Given the description of an element on the screen output the (x, y) to click on. 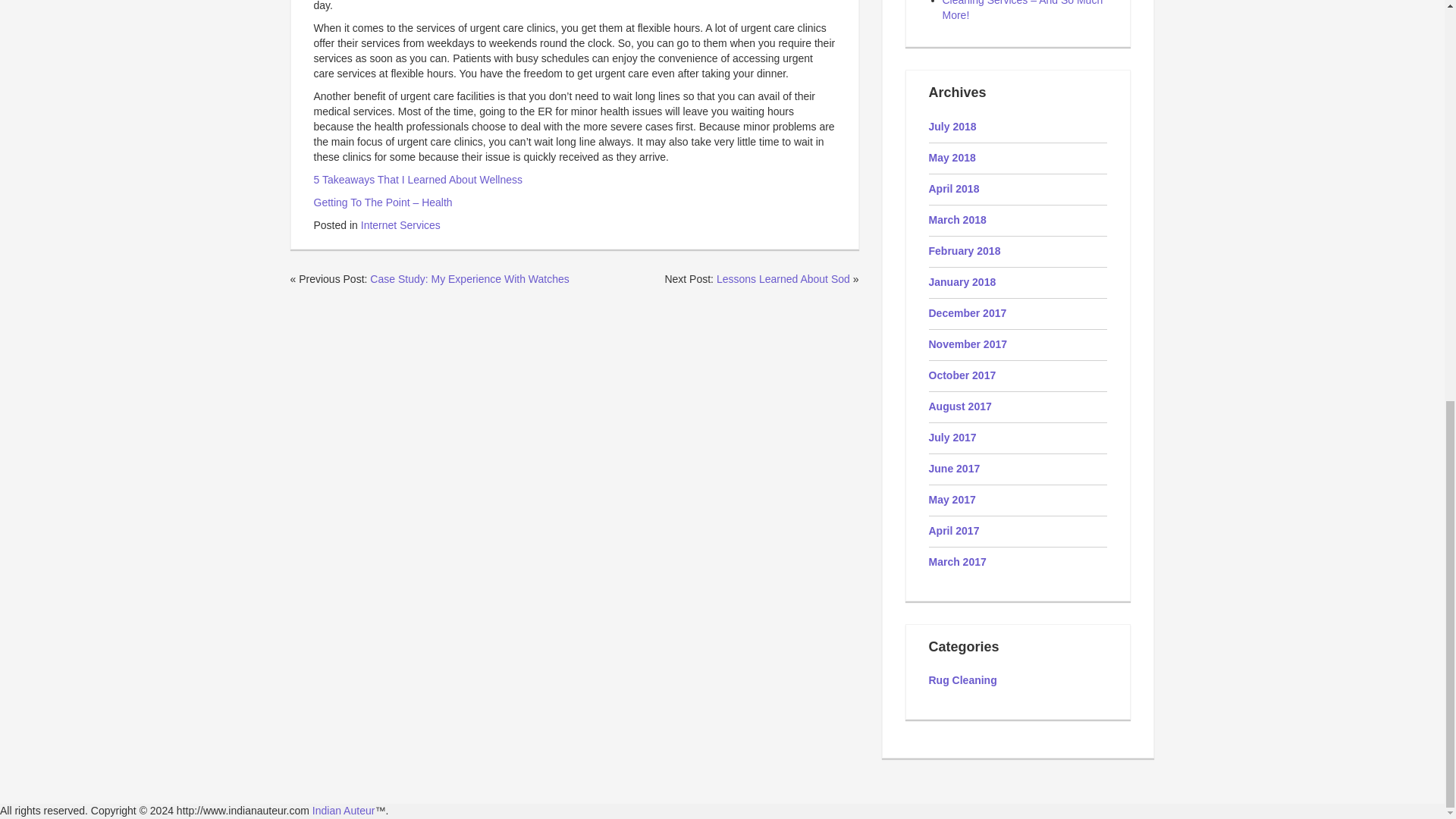
Internet Services (401, 224)
October 2017 (961, 375)
May 2018 (951, 157)
Rug Cleaning (961, 680)
August 2017 (959, 406)
5 Takeaways That I Learned About Wellness (418, 179)
July 2017 (951, 437)
March 2017 (956, 562)
November 2017 (967, 344)
Case Study: My Experience With Watches (469, 278)
April 2017 (953, 530)
February 2018 (964, 250)
April 2018 (953, 188)
December 2017 (967, 313)
March 2018 (956, 219)
